Given the description of an element on the screen output the (x, y) to click on. 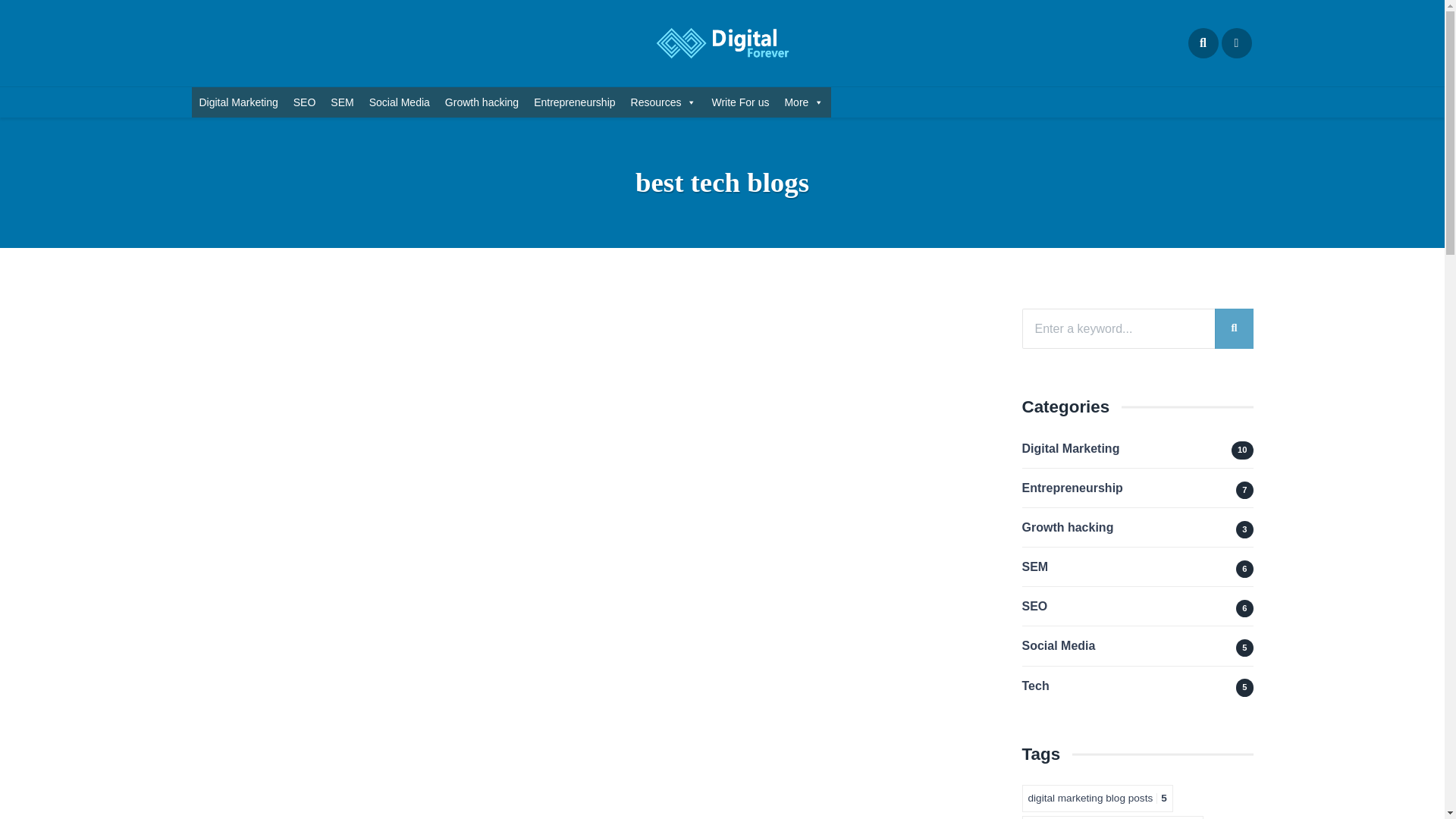
Growth hacking (481, 101)
Entrepreneurship (574, 101)
SEO (304, 101)
Social Media (399, 101)
SEM (342, 101)
Write For us (739, 101)
More (803, 101)
Resources (663, 101)
Digital Marketing (237, 101)
